Given the description of an element on the screen output the (x, y) to click on. 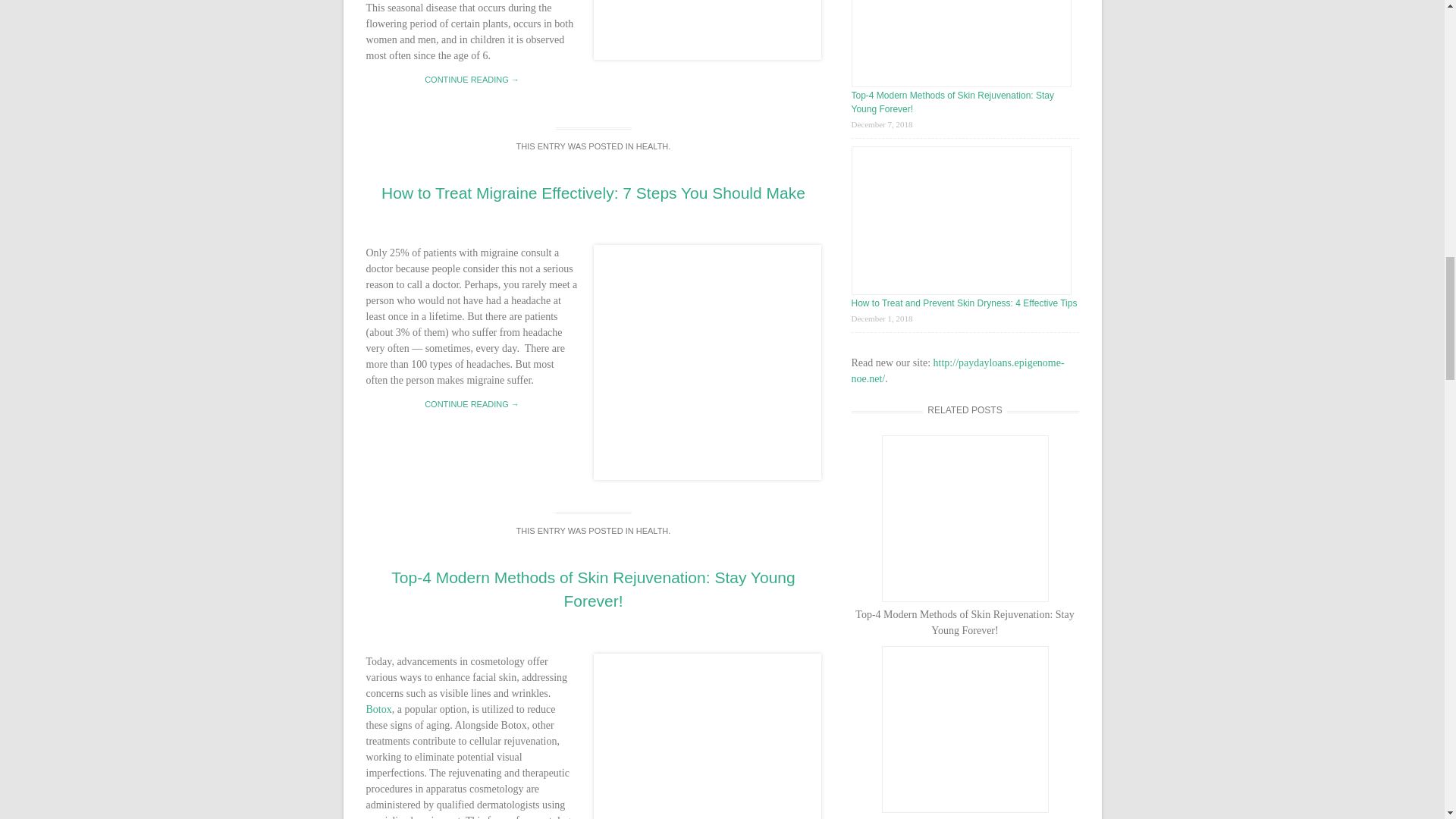
HEALTH (652, 530)
Botox (378, 708)
HEALTH (652, 145)
How to Treat Migraine Effectively: 7 Steps You Should Make (593, 192)
